Given the description of an element on the screen output the (x, y) to click on. 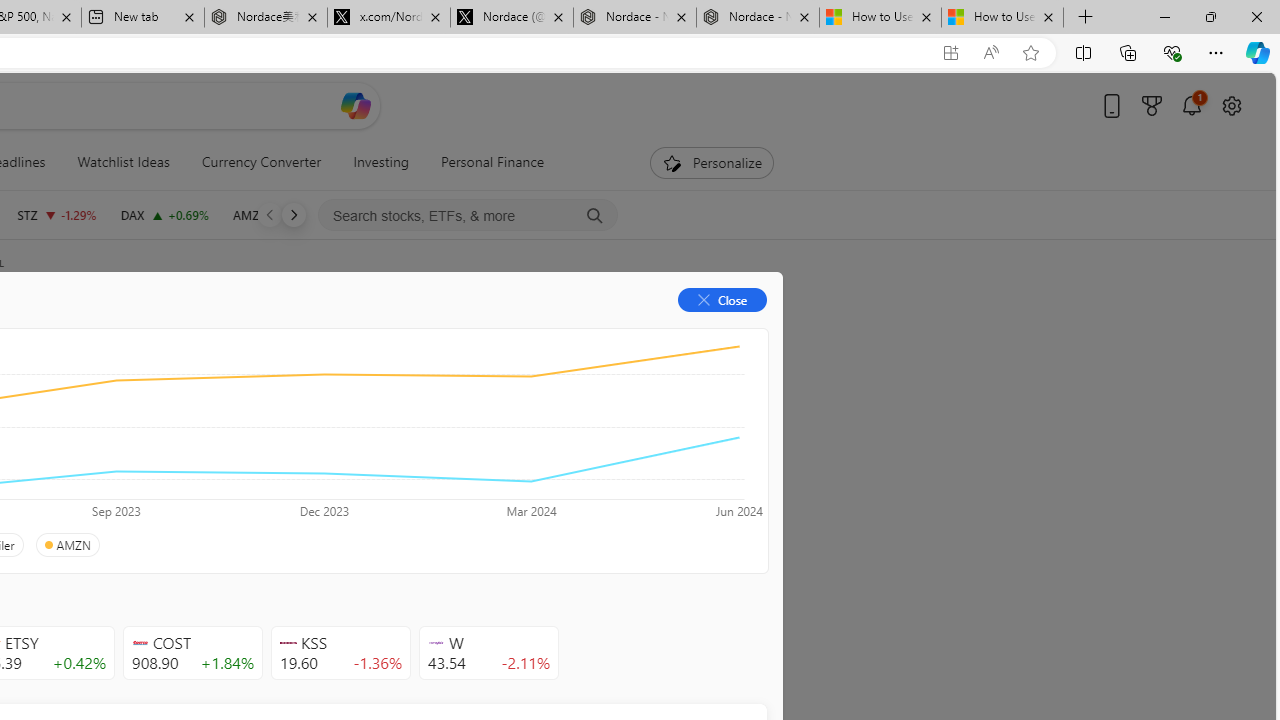
App available. Install Start Money (950, 53)
Efficiency (216, 445)
Class: text-DS-EntryPoint1-3 (281, 446)
Notifications (1192, 105)
Currency Converter (261, 162)
AMZN AMAZON.COM, INC. decrease 173.12 -2.38 -1.36% (280, 214)
Watchlist Ideas (123, 162)
Sentiment (595, 331)
Leverage & Liquidity (95, 445)
Currency Converter (261, 162)
